Given the description of an element on the screen output the (x, y) to click on. 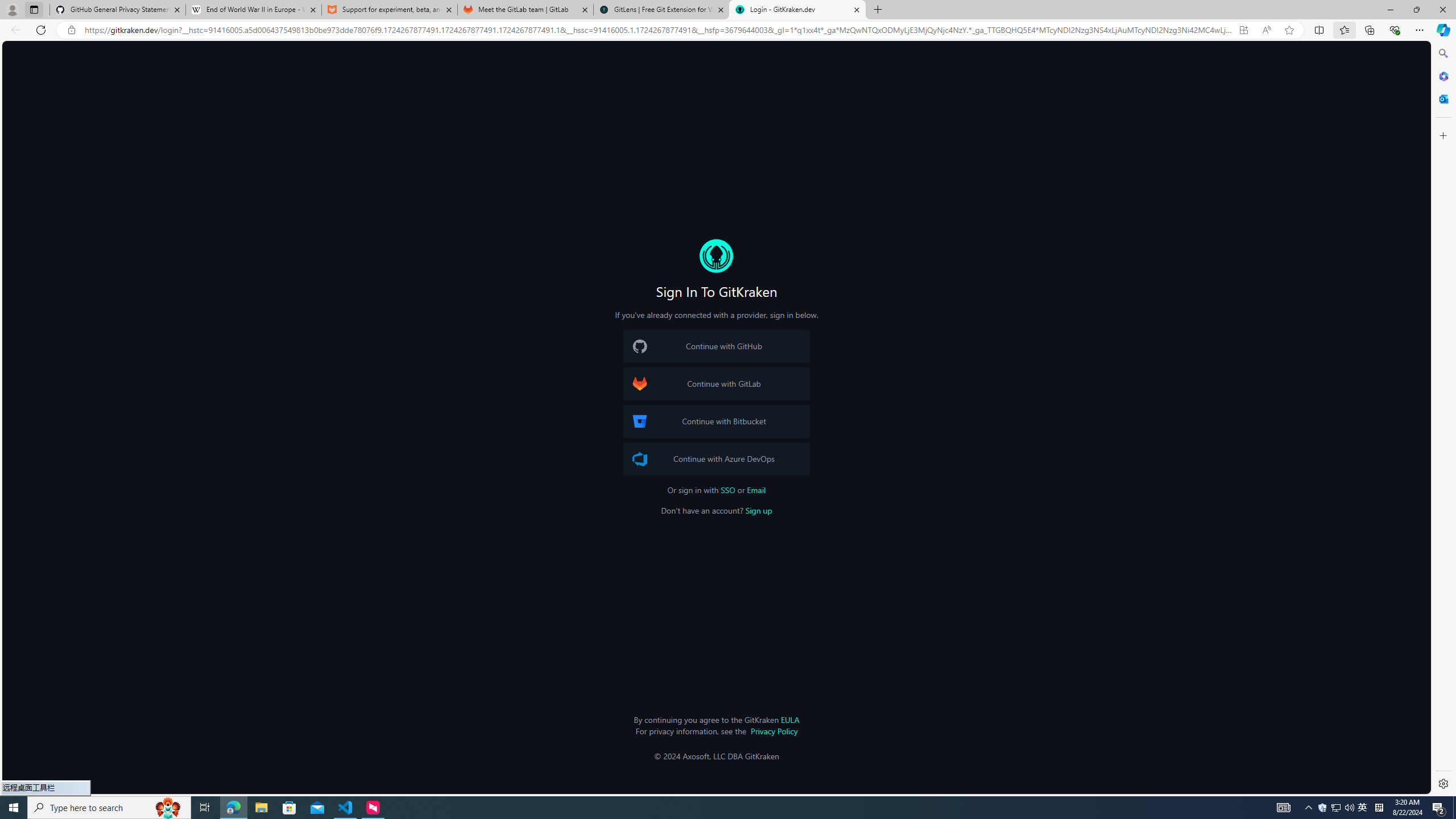
GitLab Logo Continue with GitLab (716, 383)
GitHub Logo Continue with GitHub (716, 346)
GitKraken (715, 255)
Bitbucket Logo (639, 421)
